Given the description of an element on the screen output the (x, y) to click on. 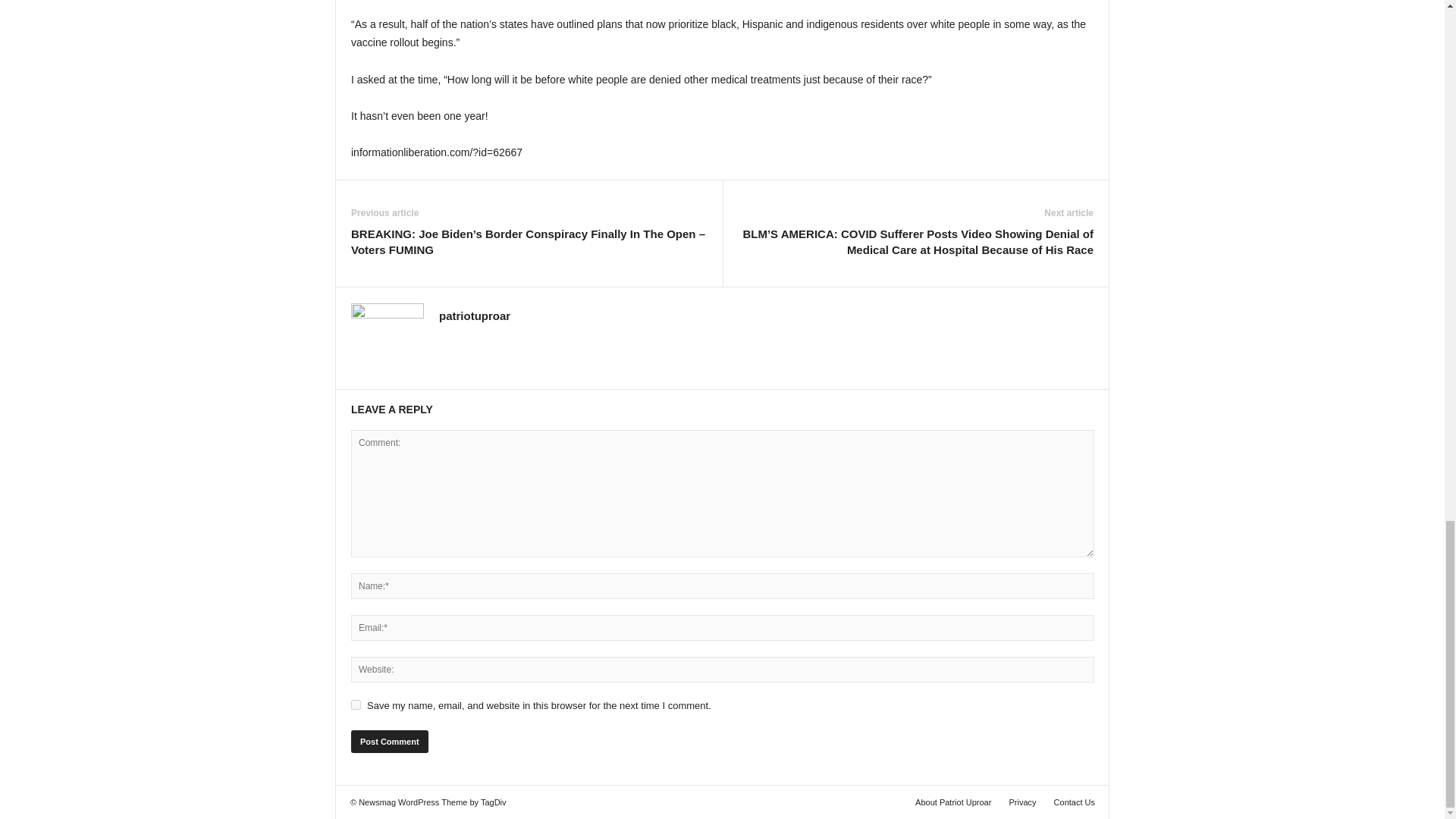
yes (355, 705)
Post Comment (389, 741)
patriotuproar (475, 315)
Contact Us (1070, 801)
Privacy (1022, 801)
About Patriot Uproar (952, 801)
Post Comment (389, 741)
